Given the description of an element on the screen output the (x, y) to click on. 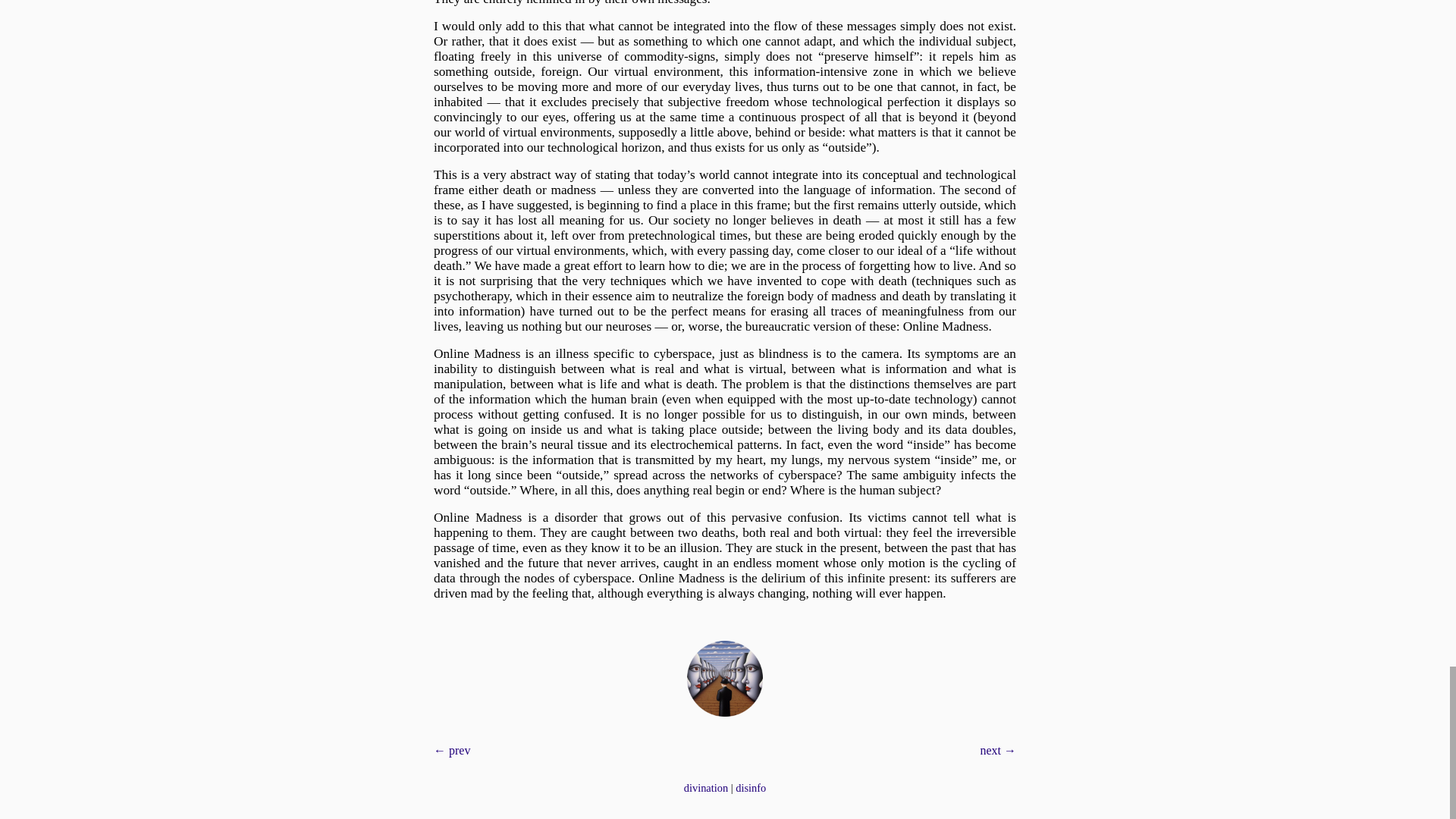
divination (706, 787)
disinfo (750, 787)
